Given the description of an element on the screen output the (x, y) to click on. 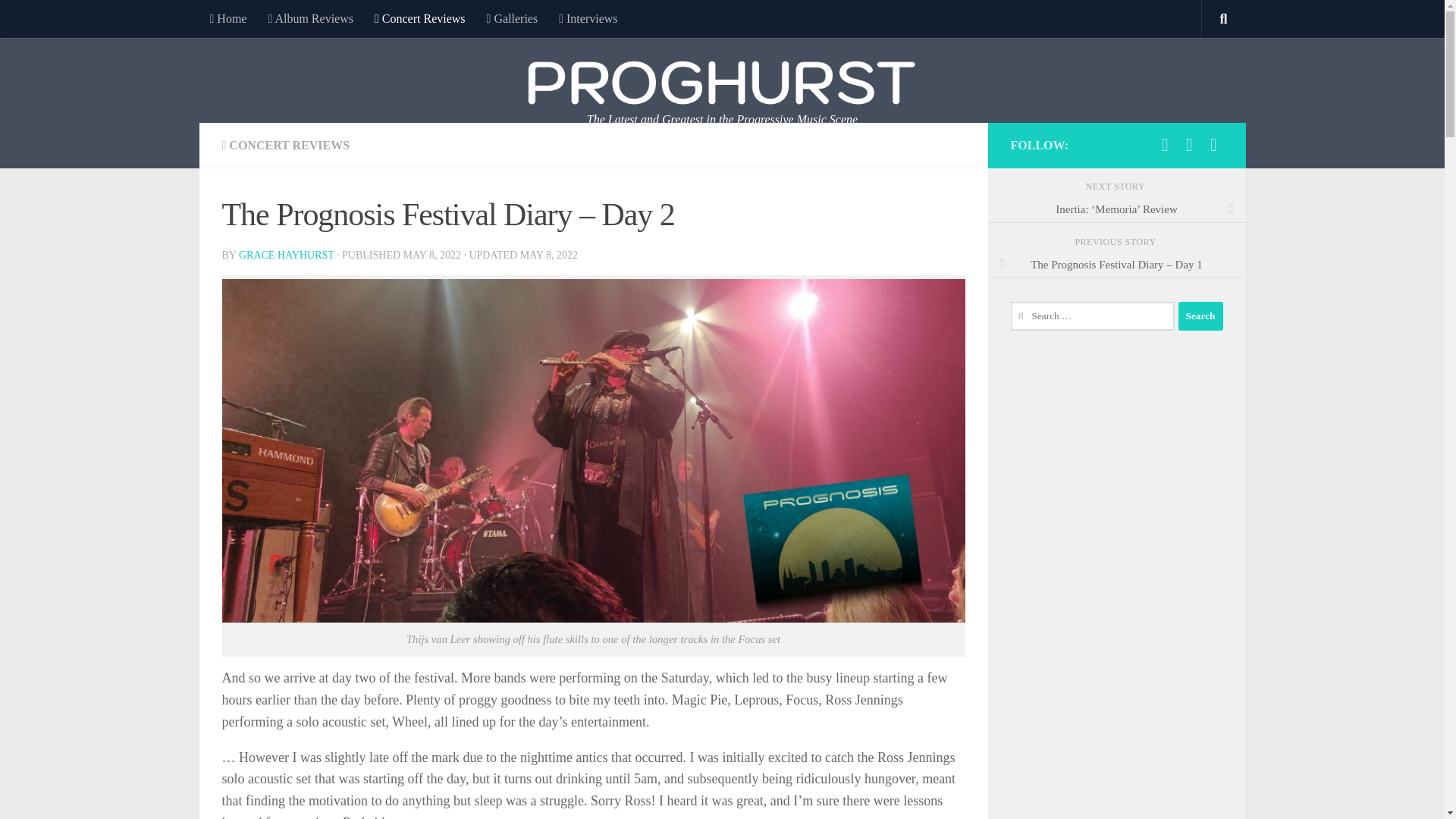
Skip to content (59, 20)
Search (1200, 316)
Search (1200, 316)
Follow us on Facebook-square (1164, 144)
Follow us on Instagram (1188, 144)
GRACE HAYHURST (286, 255)
Posts by Grace Hayhurst (286, 255)
